Given the description of an element on the screen output the (x, y) to click on. 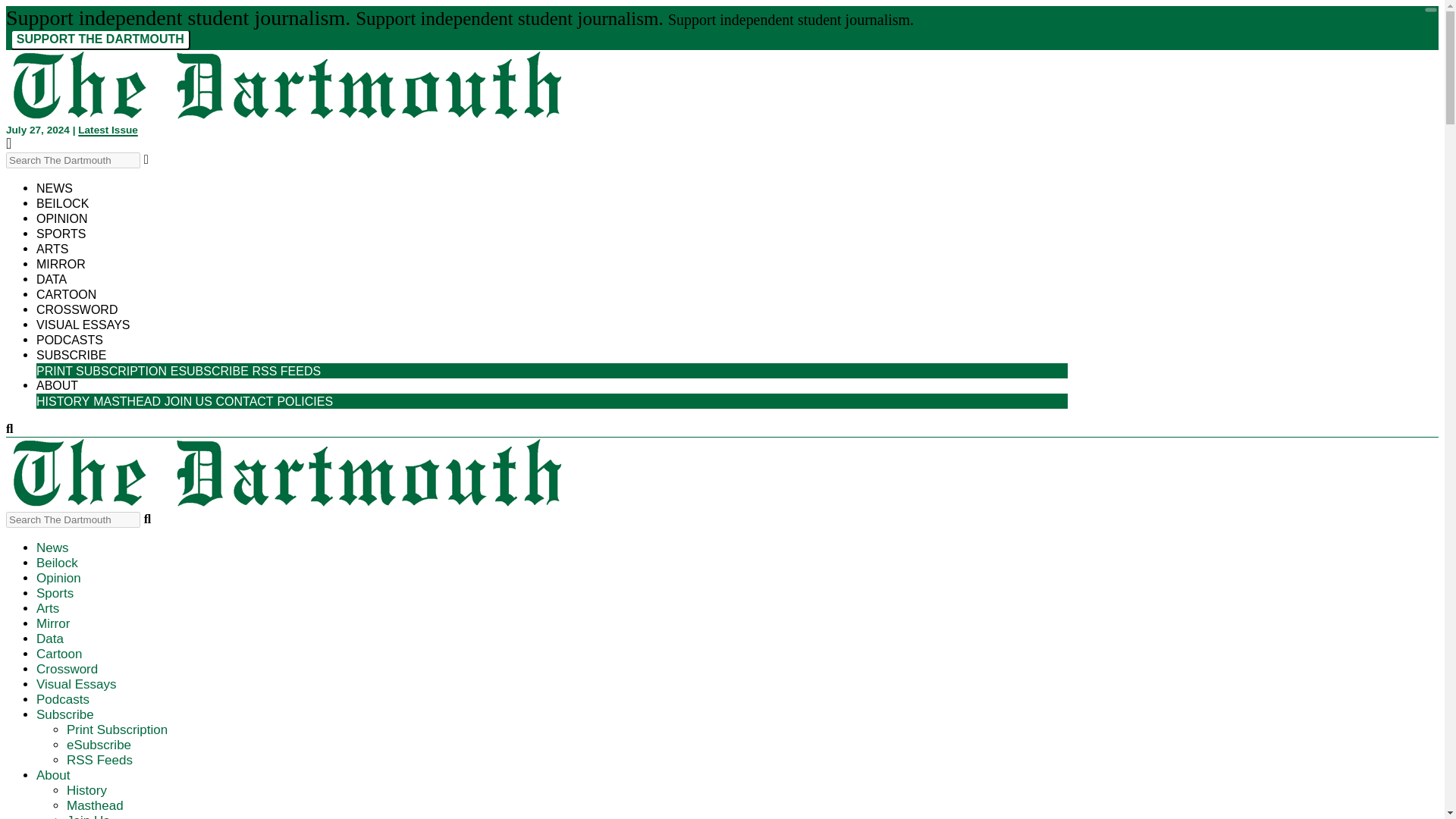
Sports (60, 233)
Crossword (76, 309)
Opinion (58, 577)
RSS FEEDS (286, 367)
MIRROR (60, 264)
PRINT SUBSCRIPTION (101, 370)
SPORTS (60, 233)
Latest Issue (108, 129)
Cartoon (66, 294)
Beilock (57, 563)
ESUBSCRIBE (209, 370)
CONTACT (244, 401)
Mirror (52, 623)
MASTHEAD (126, 401)
Cartoon (58, 653)
